Given the description of an element on the screen output the (x, y) to click on. 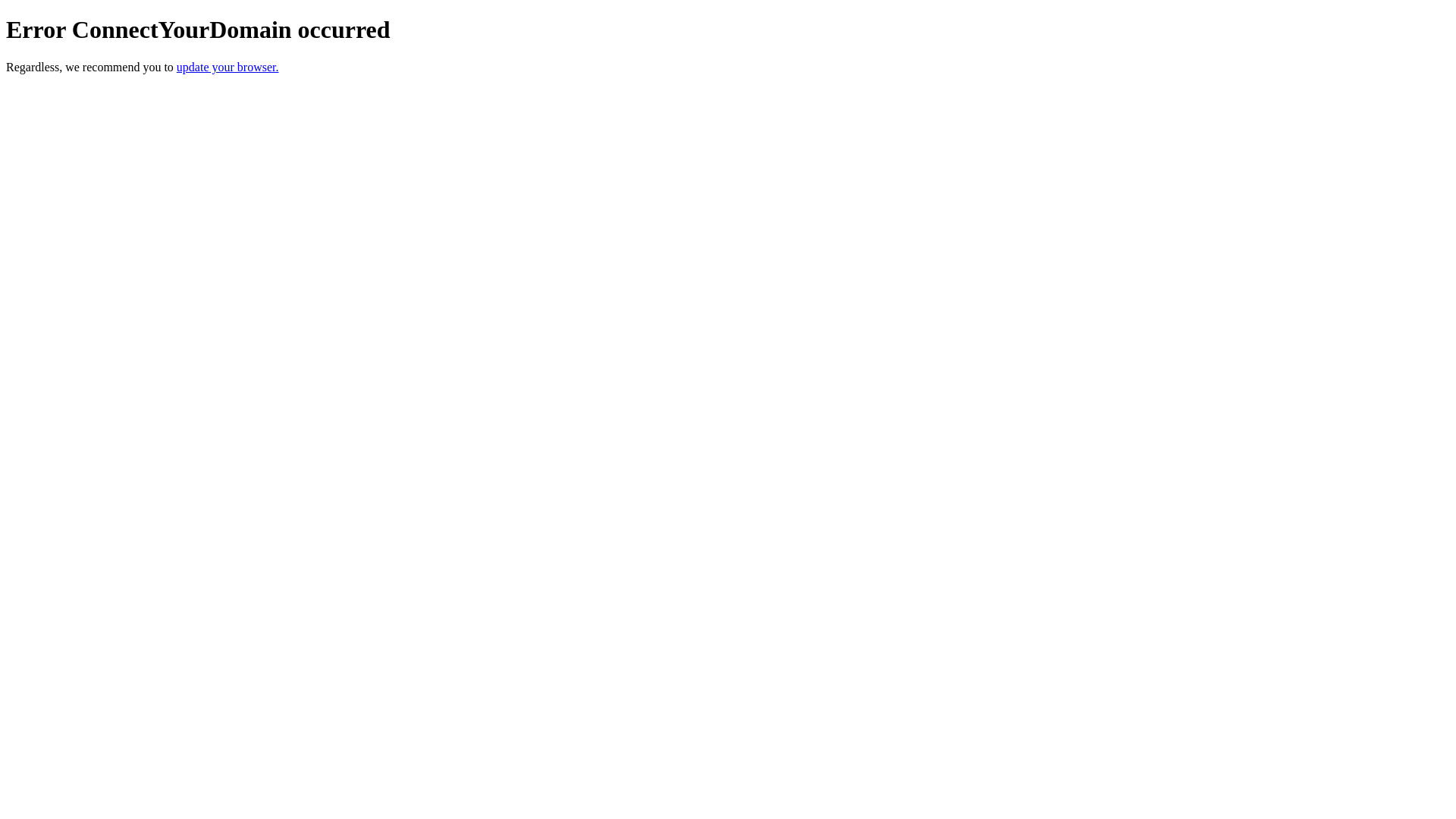
update your browser. Element type: text (227, 66)
